Given the description of an element on the screen output the (x, y) to click on. 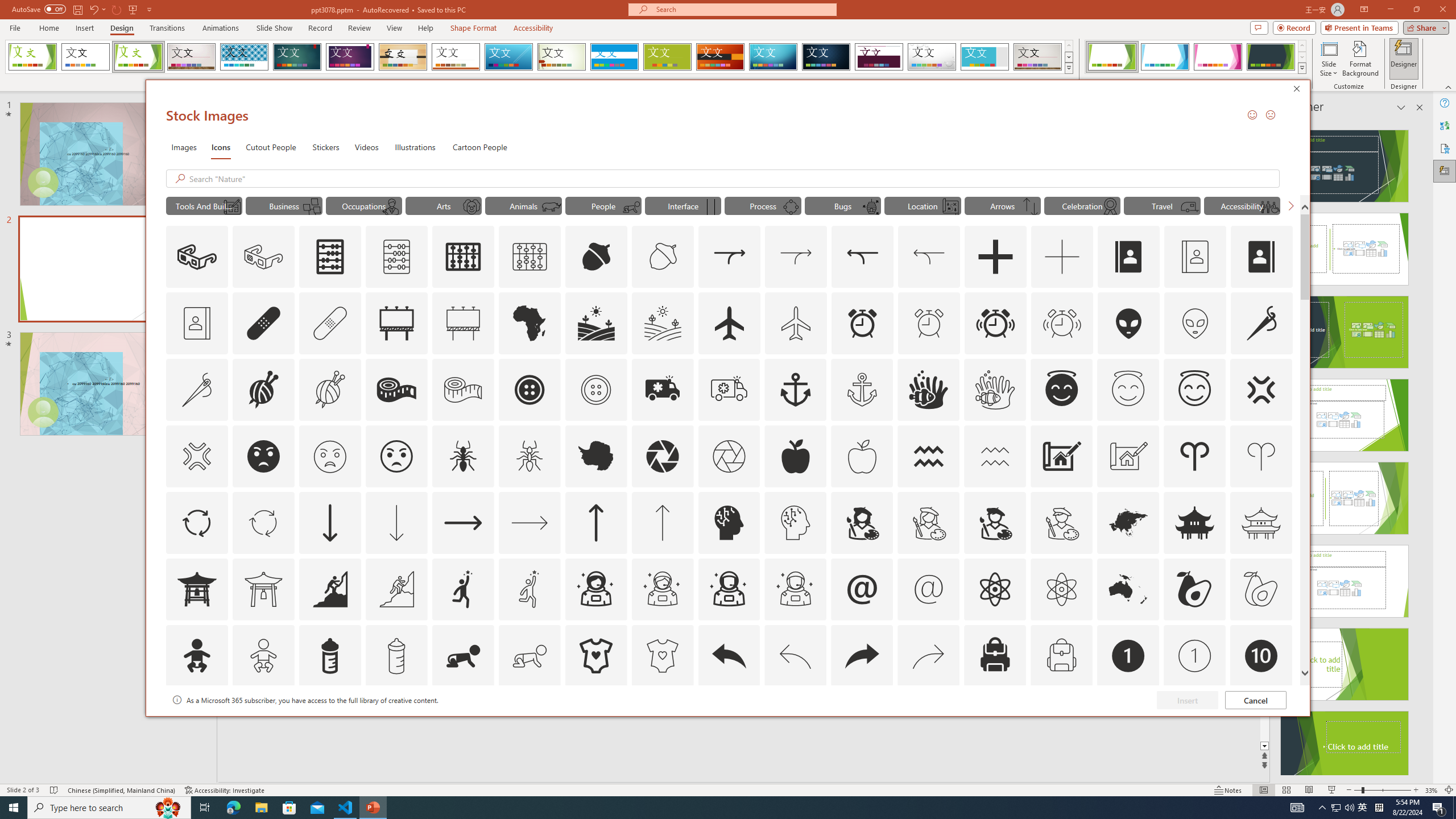
AutomationID: Icons_ArrowUp (595, 522)
AutomationID: Icons_Badge5_M (729, 721)
AutomationID: Icons_AddressBook_LTR (1128, 256)
AutomationID: Icons_Badge7 (928, 721)
Ion (296, 56)
AutomationID: Icons_Abacus1 (462, 256)
AutomationID: Icons_Rhino_M (551, 206)
AutomationID: Icons_Airplane (729, 323)
